Given the description of an element on the screen output the (x, y) to click on. 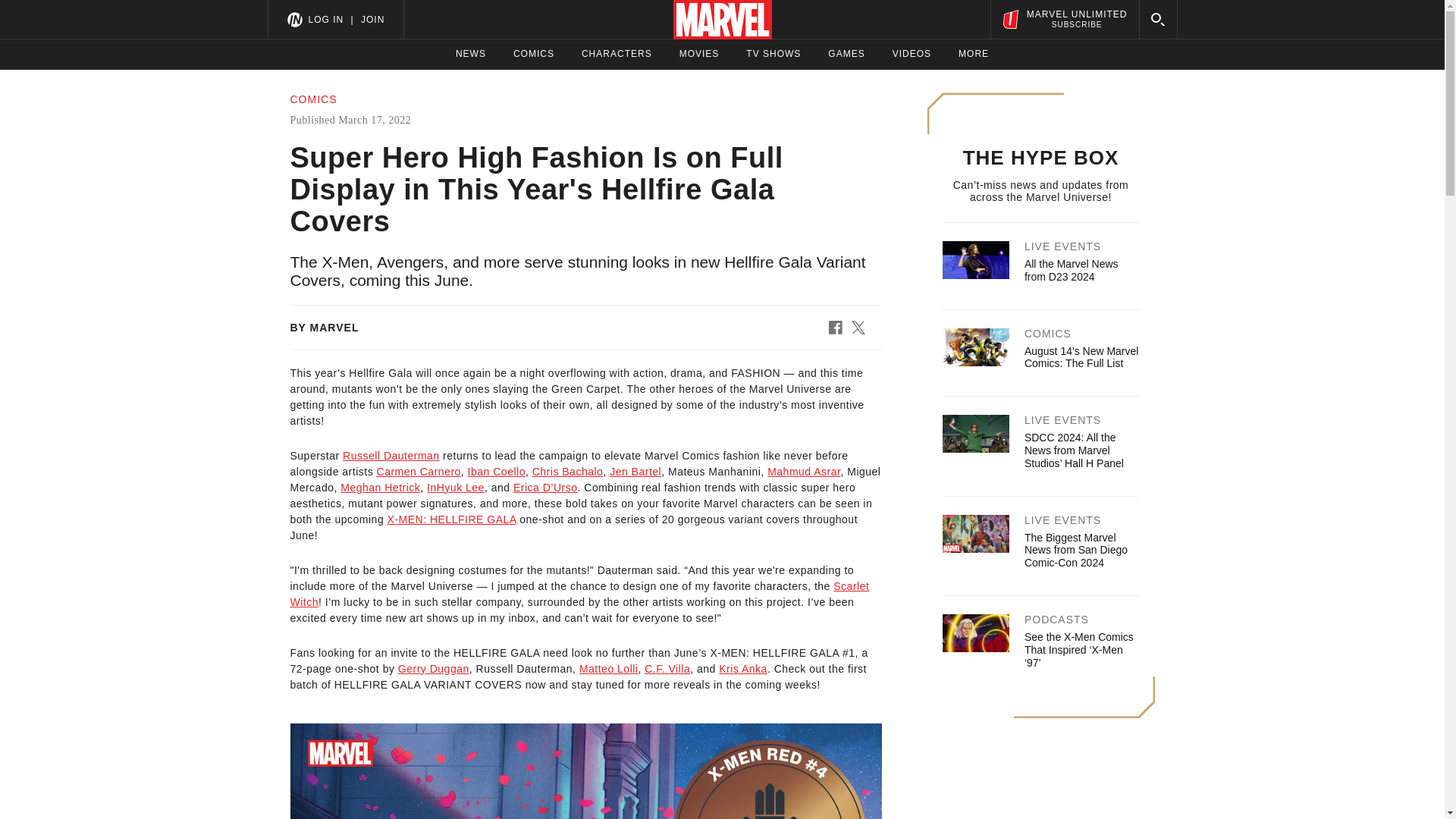
InHyuk Lee (455, 487)
Jen Bartel (635, 471)
C.F. Villa (667, 668)
GAMES (846, 54)
Chris Bachalo (568, 471)
Iban Coello (496, 471)
COMICS (533, 54)
TV SHOWS (772, 54)
CHARACTERS (616, 54)
MORE (973, 54)
